Given the description of an element on the screen output the (x, y) to click on. 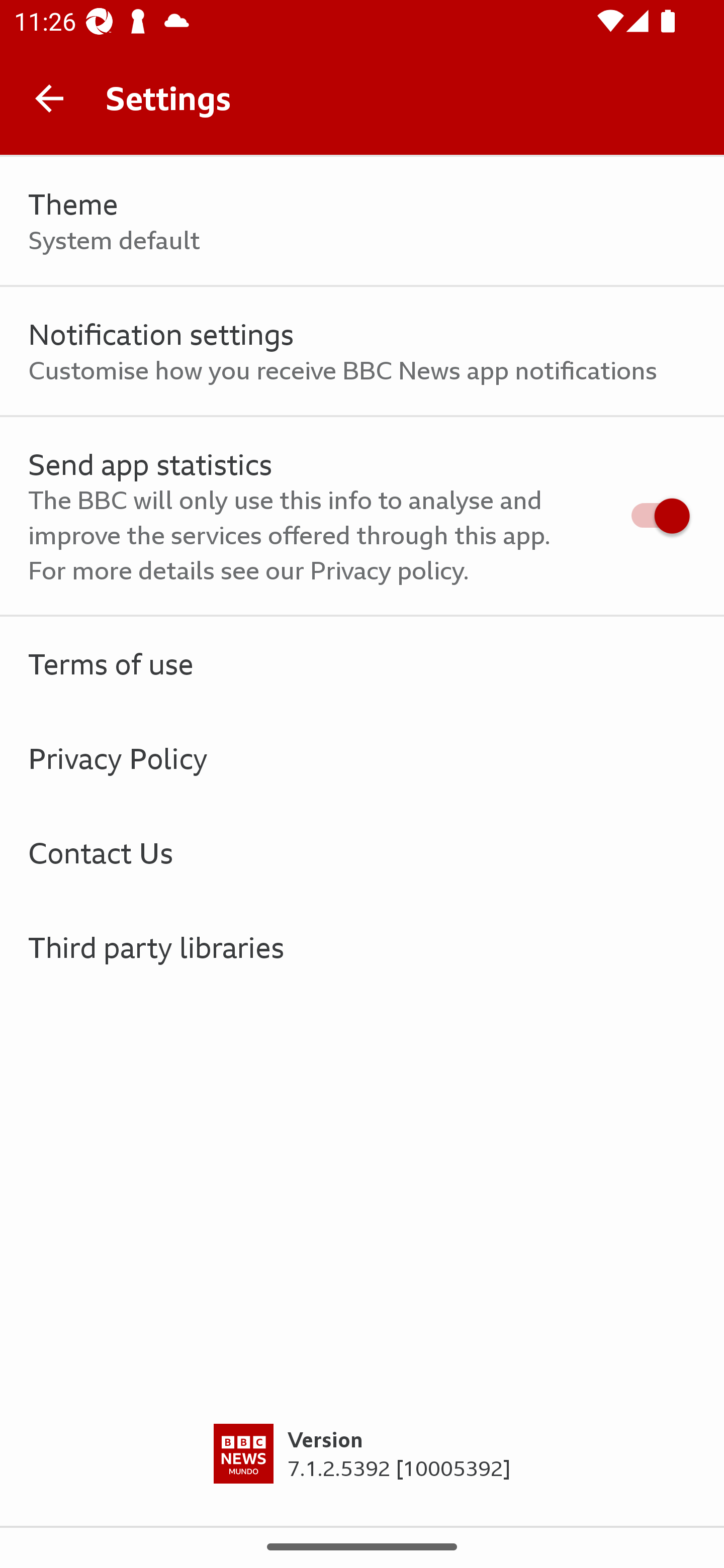
Back (49, 97)
Theme System default (362, 220)
Terms of use (362, 663)
Privacy Policy (362, 758)
Contact Us (362, 852)
Third party libraries (362, 947)
Version 7.1.2.5392 [10005392] (362, 1474)
